Given the description of an element on the screen output the (x, y) to click on. 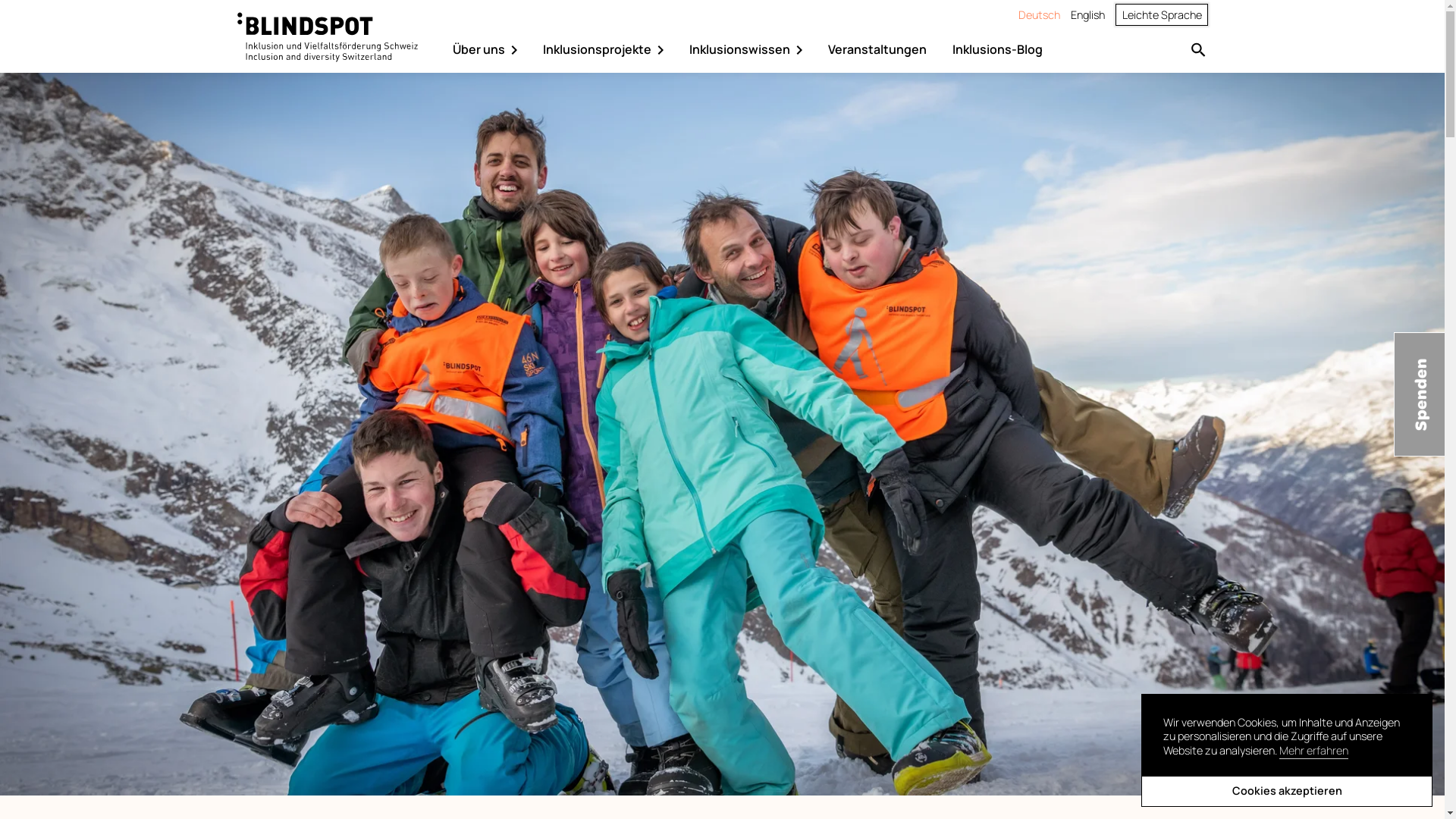
English Element type: text (1087, 14)
Mehr erfahren Element type: text (1313, 751)
Leichte Sprache Element type: text (1161, 14)
Deutsch Element type: text (1039, 14)
Inklusionsprojekte Element type: text (605, 50)
Inklusions-Blog Element type: text (997, 49)
Cookies akzeptieren Element type: text (1286, 791)
Inklusionswissen Element type: text (748, 50)
Suche Element type: hover (1198, 48)
Veranstaltungen Element type: text (877, 49)
